Given the description of an element on the screen output the (x, y) to click on. 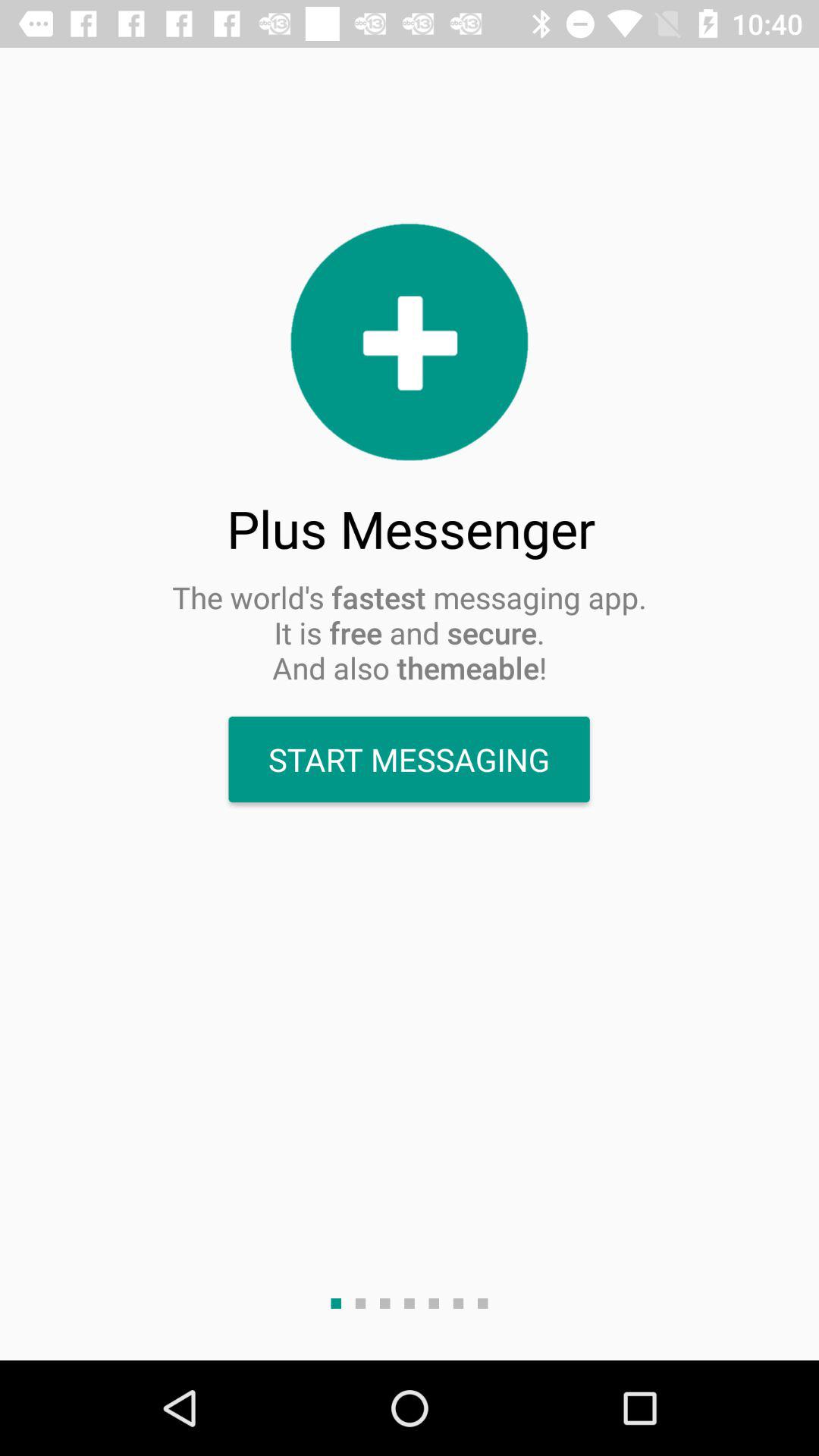
launch the start messaging (408, 759)
